Given the description of an element on the screen output the (x, y) to click on. 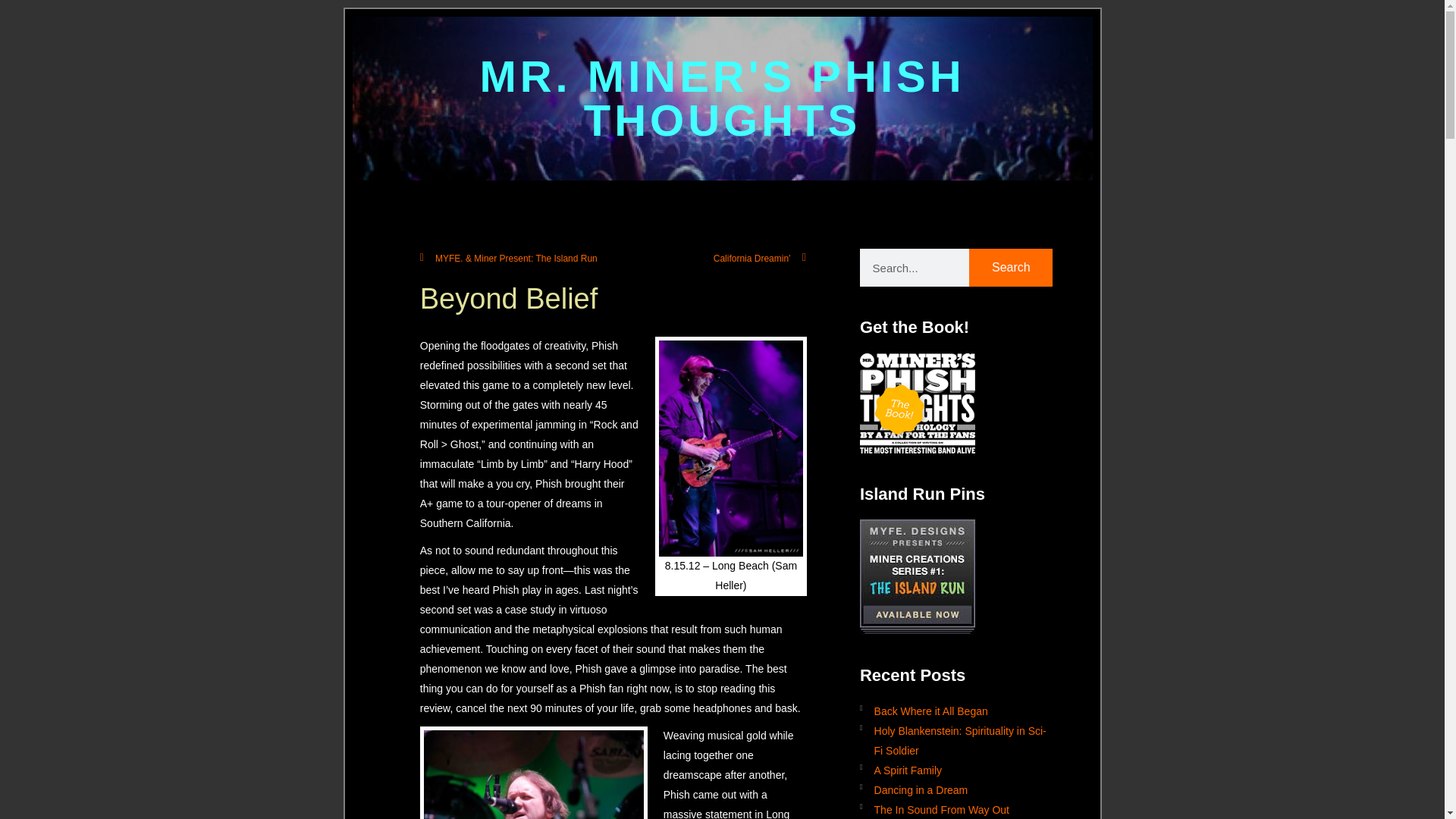
Dancing in a Dream (956, 789)
A Spirit Family (956, 769)
Holy Blankenstein: Spirituality in Sci-Fi Soldier (956, 740)
Search (1010, 267)
The In Sound From Way Out (956, 809)
MR. MINER'S PHISH THOUGHTS (721, 97)
Back Where it All Began (956, 710)
